Given the description of an element on the screen output the (x, y) to click on. 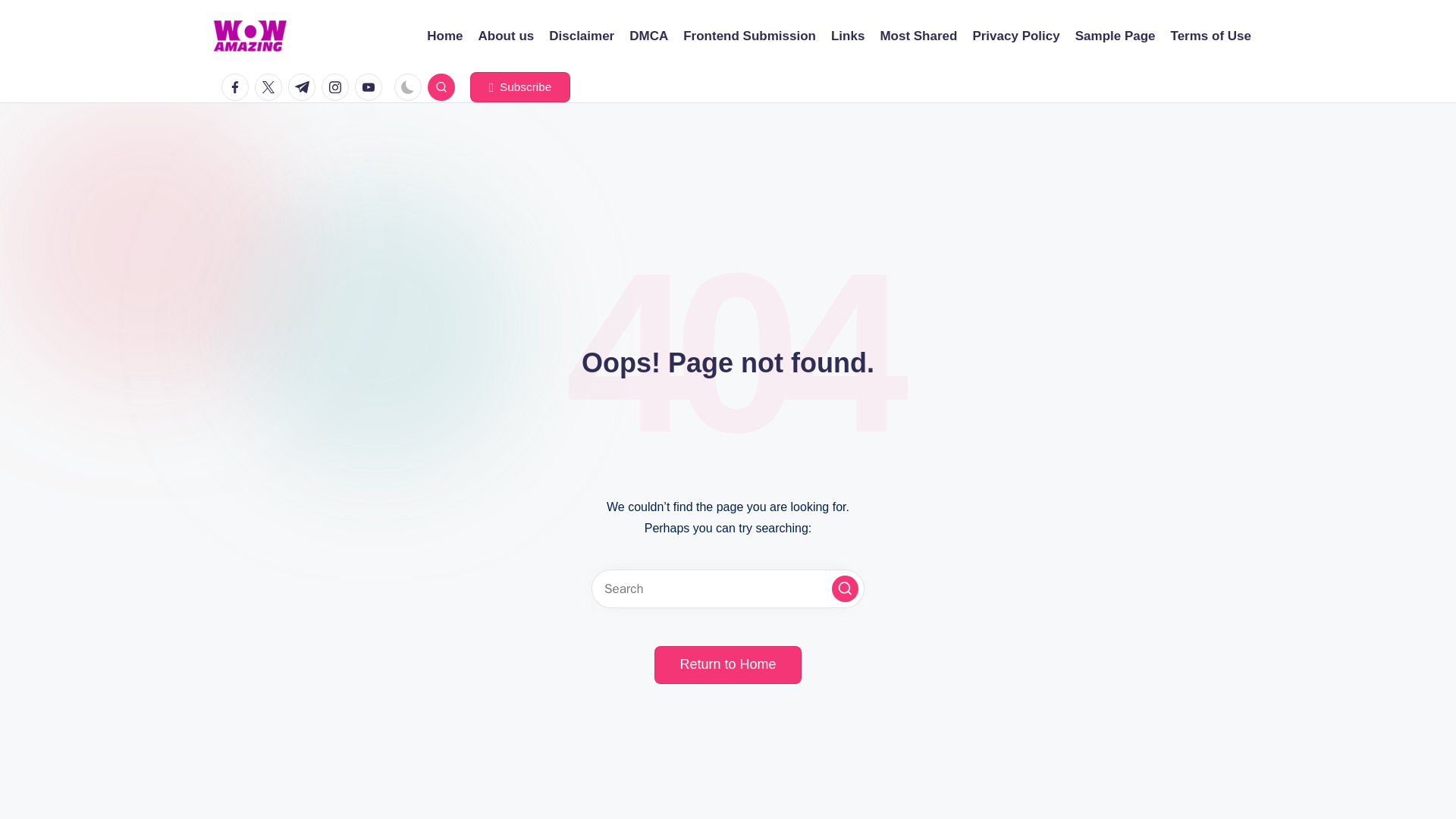
youtube.com (371, 86)
Privacy Policy (1015, 36)
Sample Page (1115, 36)
Terms of Use (1210, 36)
Subscribe (520, 87)
Disclaimer (581, 36)
Return to Home (726, 664)
Most Shared (917, 36)
Links (847, 36)
About us (506, 36)
